Given the description of an element on the screen output the (x, y) to click on. 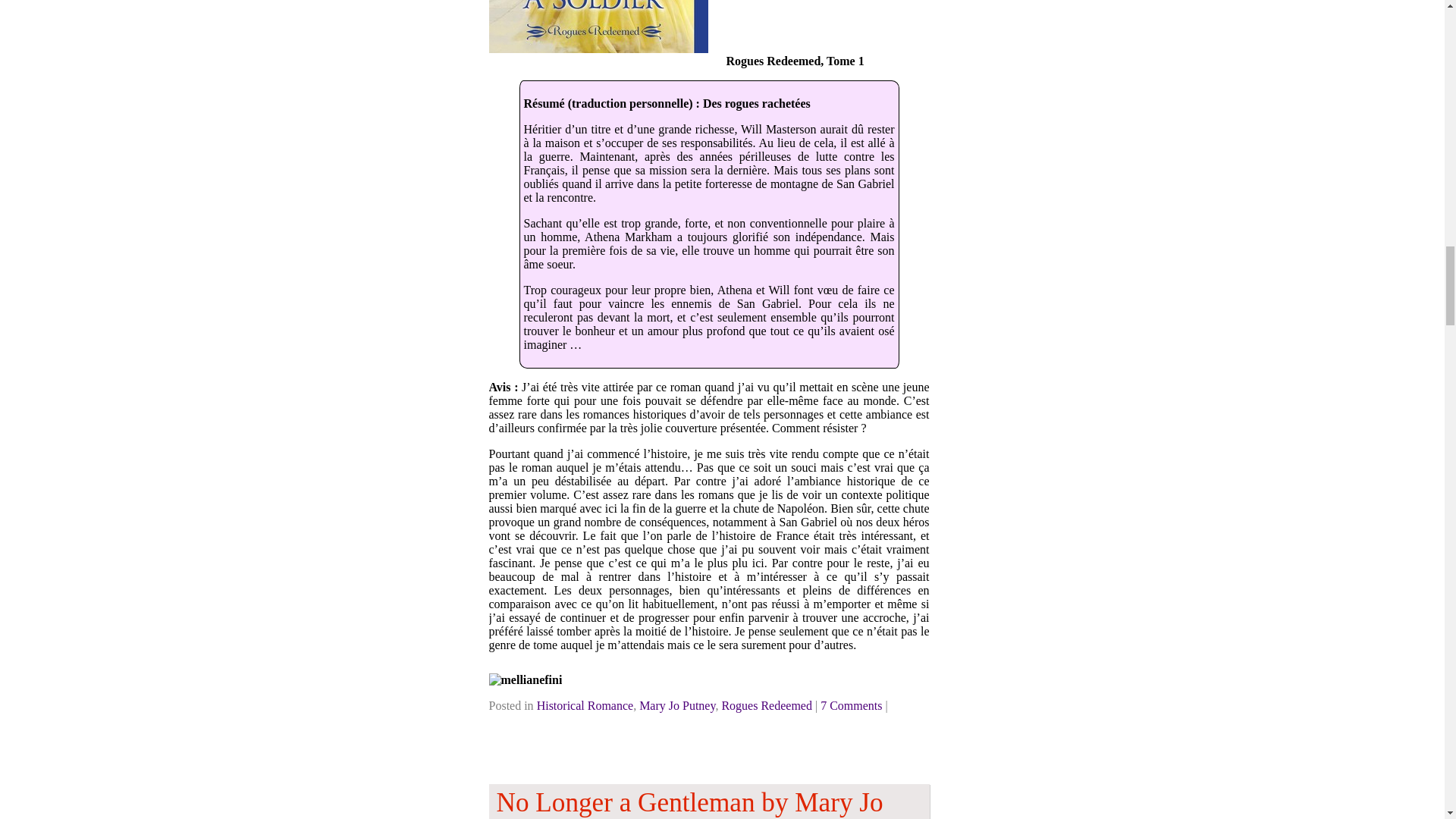
No Longer a Gentleman by Mary Jo Putney (707, 801)
Permalink to No Longer a Gentleman by Mary Jo Putney (707, 801)
Historical Romance (585, 705)
7 Comments (851, 705)
Mary Jo Putney (676, 705)
Rogues Redeemed (766, 705)
